Given the description of an element on the screen output the (x, y) to click on. 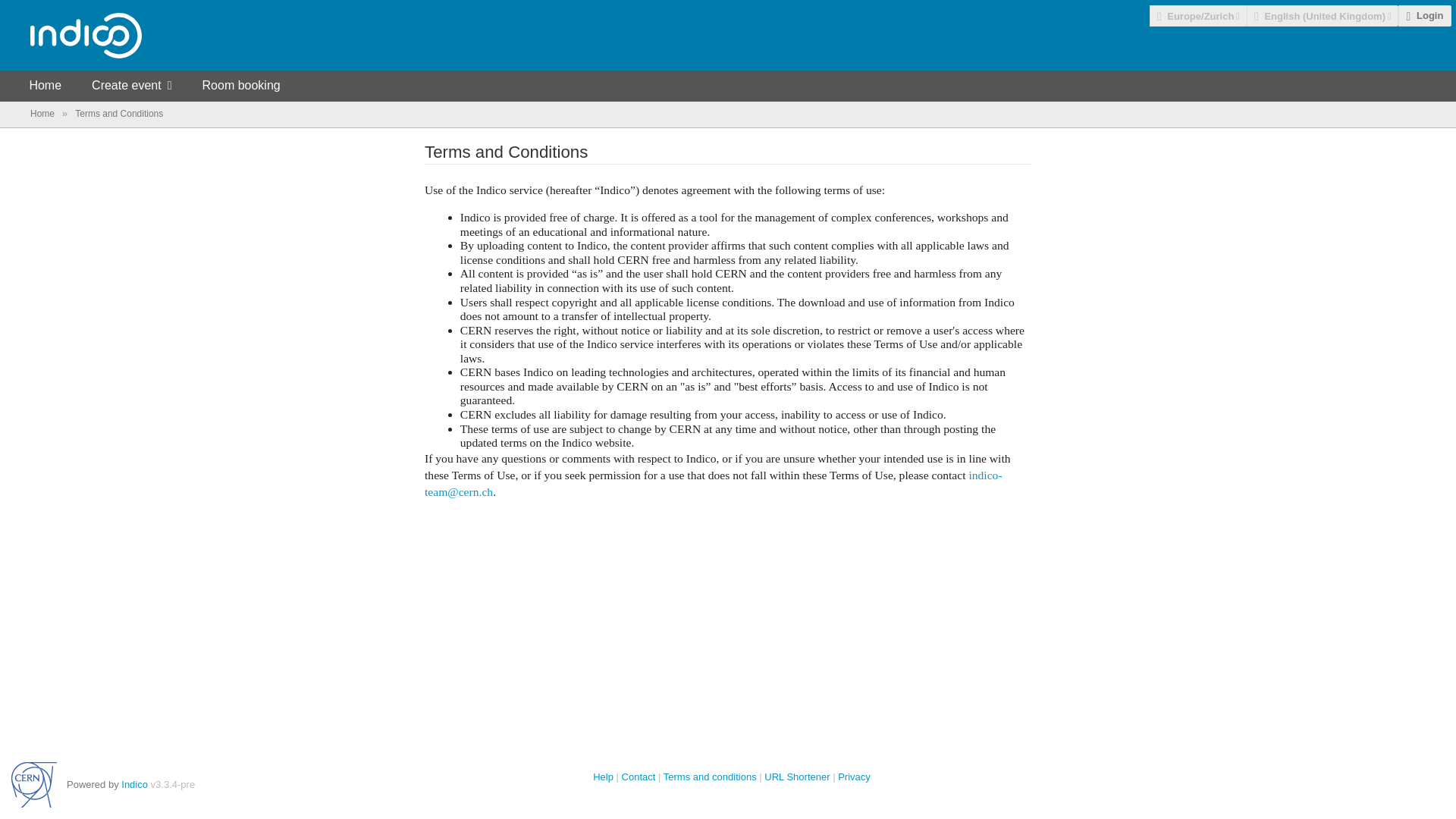
Login (1423, 15)
Create event (131, 85)
Terms and conditions (710, 776)
Indico (134, 784)
Privacy (854, 776)
Help (602, 776)
Home (45, 85)
Home (43, 113)
URL Shortener (796, 776)
Contact (638, 776)
Room booking (241, 85)
